Given the description of an element on the screen output the (x, y) to click on. 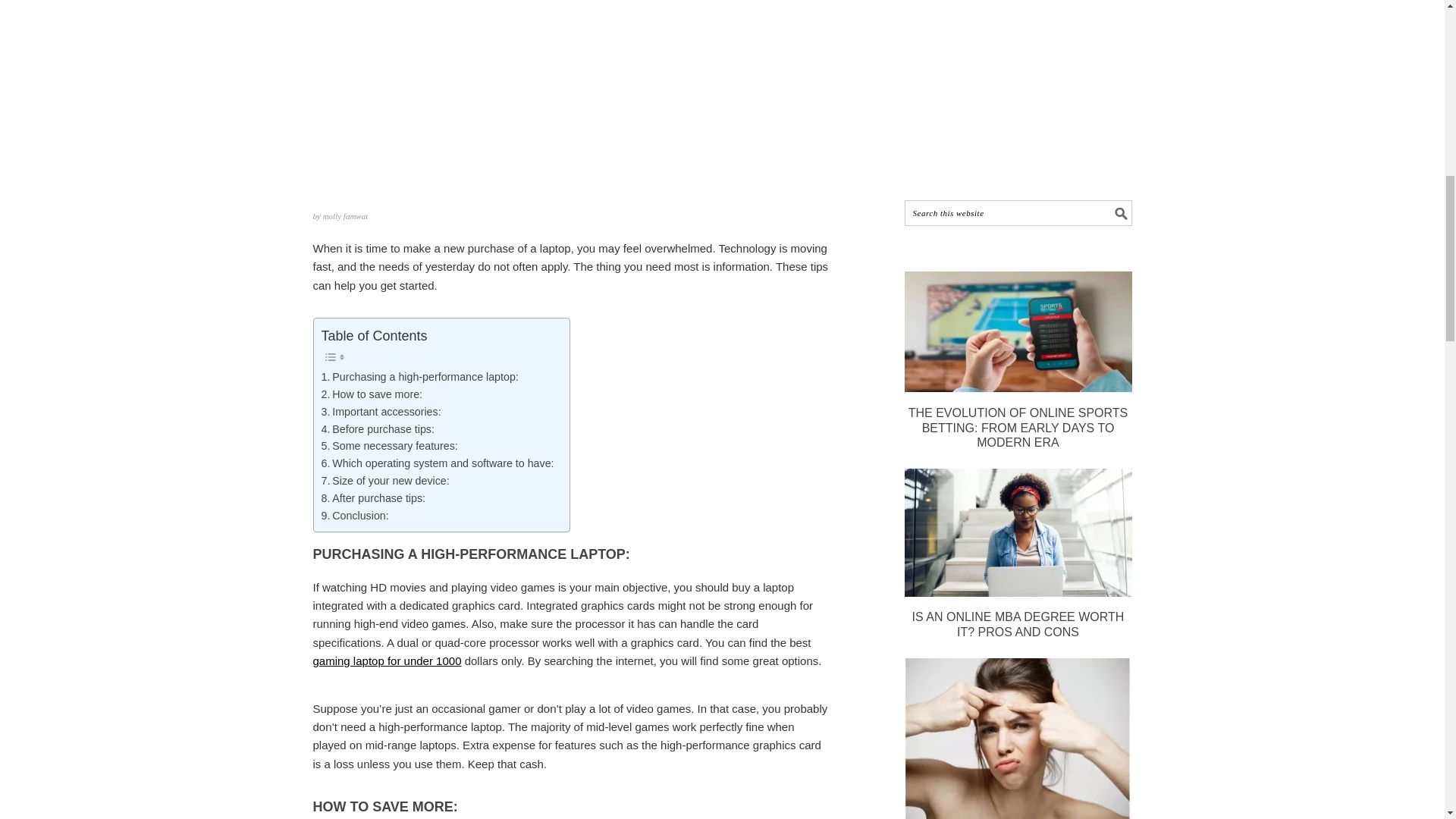
Before purchase tips: (377, 429)
After purchase tips: (373, 497)
Before purchase tips: (377, 429)
Some necessary features: (389, 446)
After purchase tips: (373, 497)
Which operating system and software to have: (437, 463)
Purchasing a high-performance laptop: (419, 376)
Important accessories: (381, 411)
Purchasing a high-performance laptop: (419, 376)
